Given the description of an element on the screen output the (x, y) to click on. 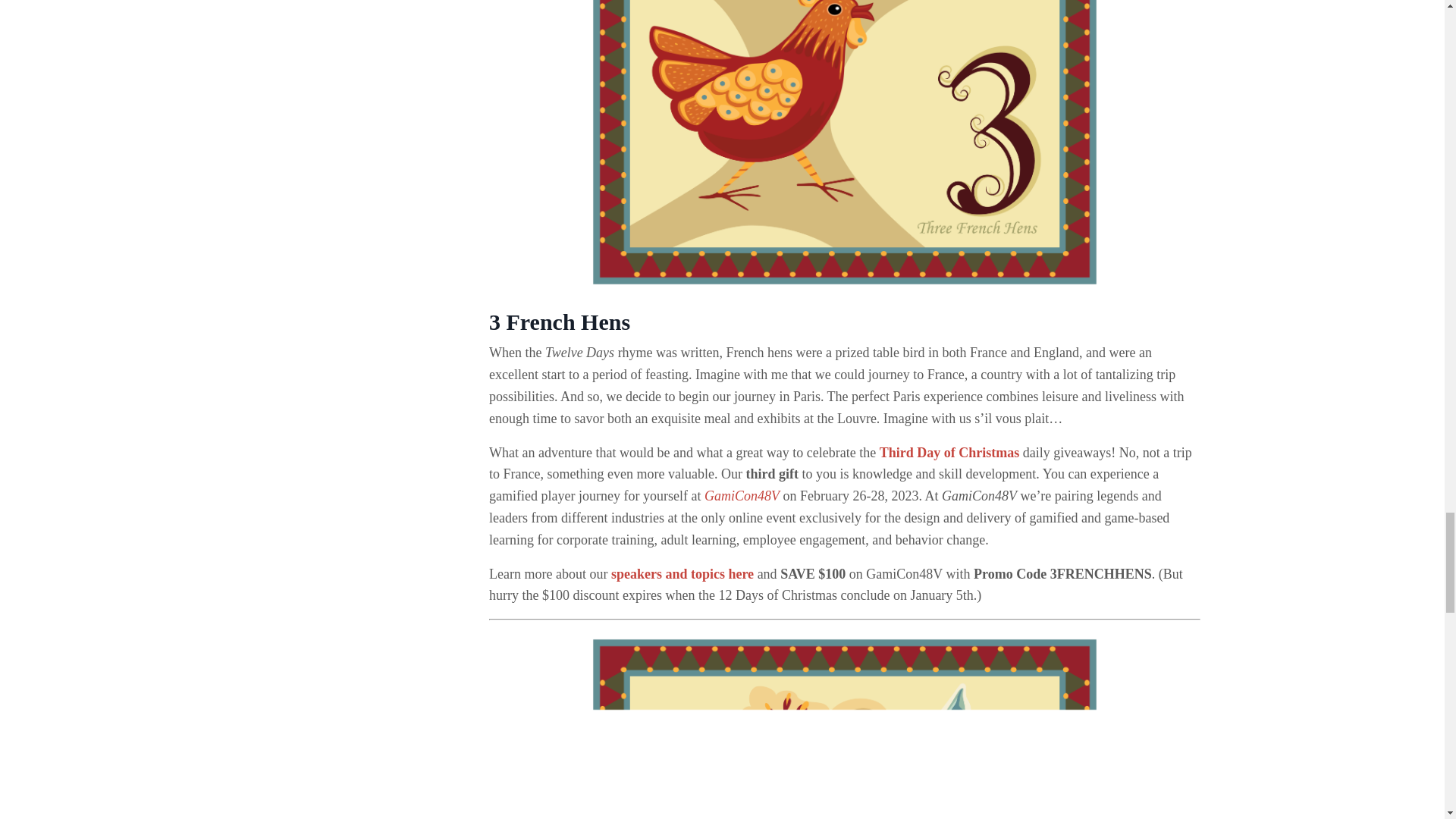
GamiCon48V (741, 495)
speakers and topics here (682, 573)
Third Day of Christmas (949, 452)
Third Day of Christmas (949, 452)
GamiCon48V (741, 495)
speakers and topics here (682, 573)
